Given the description of an element on the screen output the (x, y) to click on. 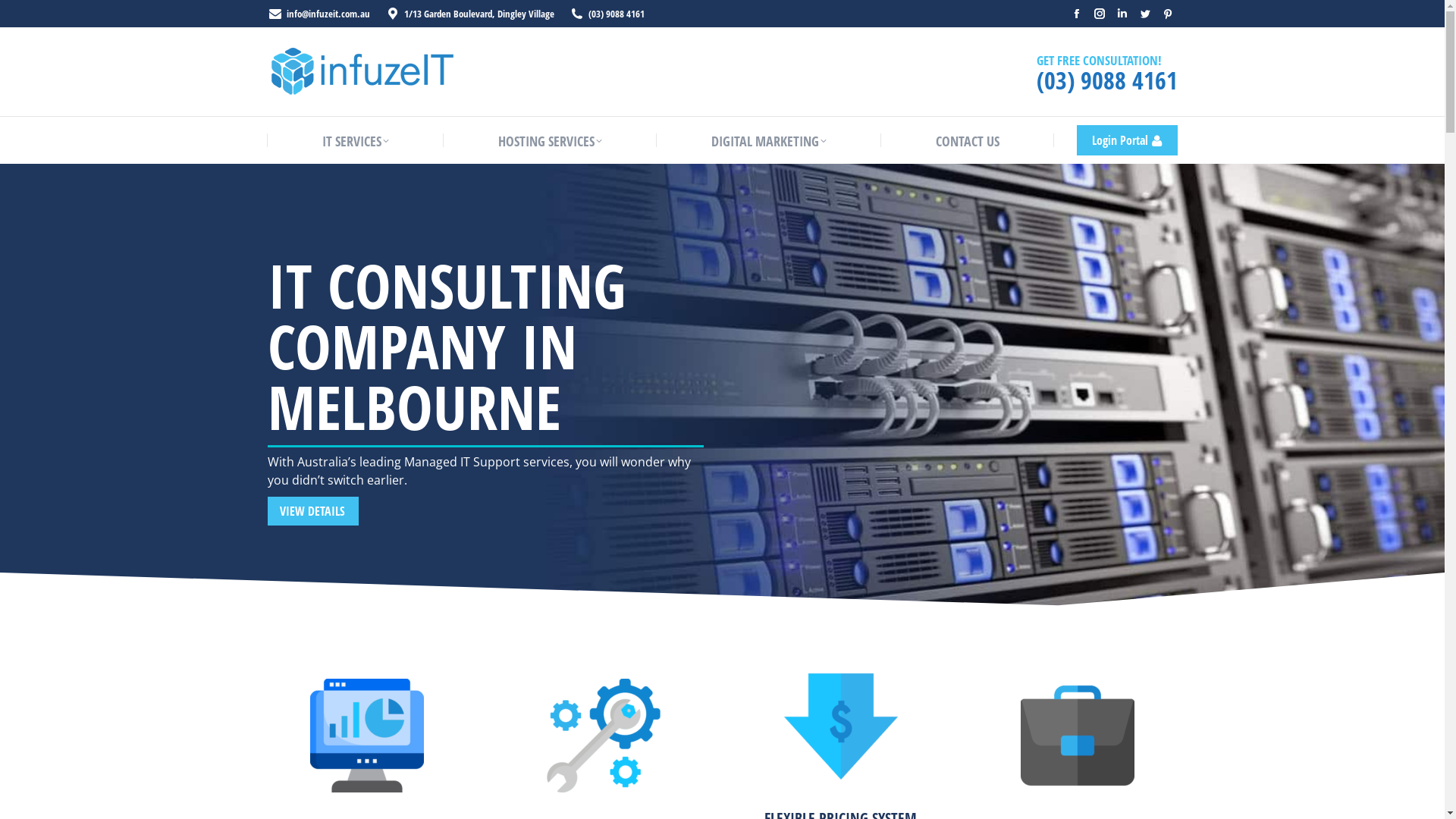
Instagram page opens in new window Element type: text (1098, 13)
Login Portal Element type: text (1126, 140)
DIGITAL MARKETING Element type: text (768, 140)
Pinterest page opens in new window Element type: text (1166, 13)
CONTACT US Element type: text (967, 140)
Linkedin page opens in new window Element type: text (1121, 13)
(03) 9088 4161 Element type: text (616, 13)
HOSTING SERVICES Element type: text (549, 140)
IT SERVICES Element type: text (354, 140)
VIEW DETAILS Element type: text (311, 510)
Twitter page opens in new window Element type: text (1144, 13)
Facebook page opens in new window Element type: text (1075, 13)
(03) 9088 4161 Element type: text (1105, 79)
